Given the description of an element on the screen output the (x, y) to click on. 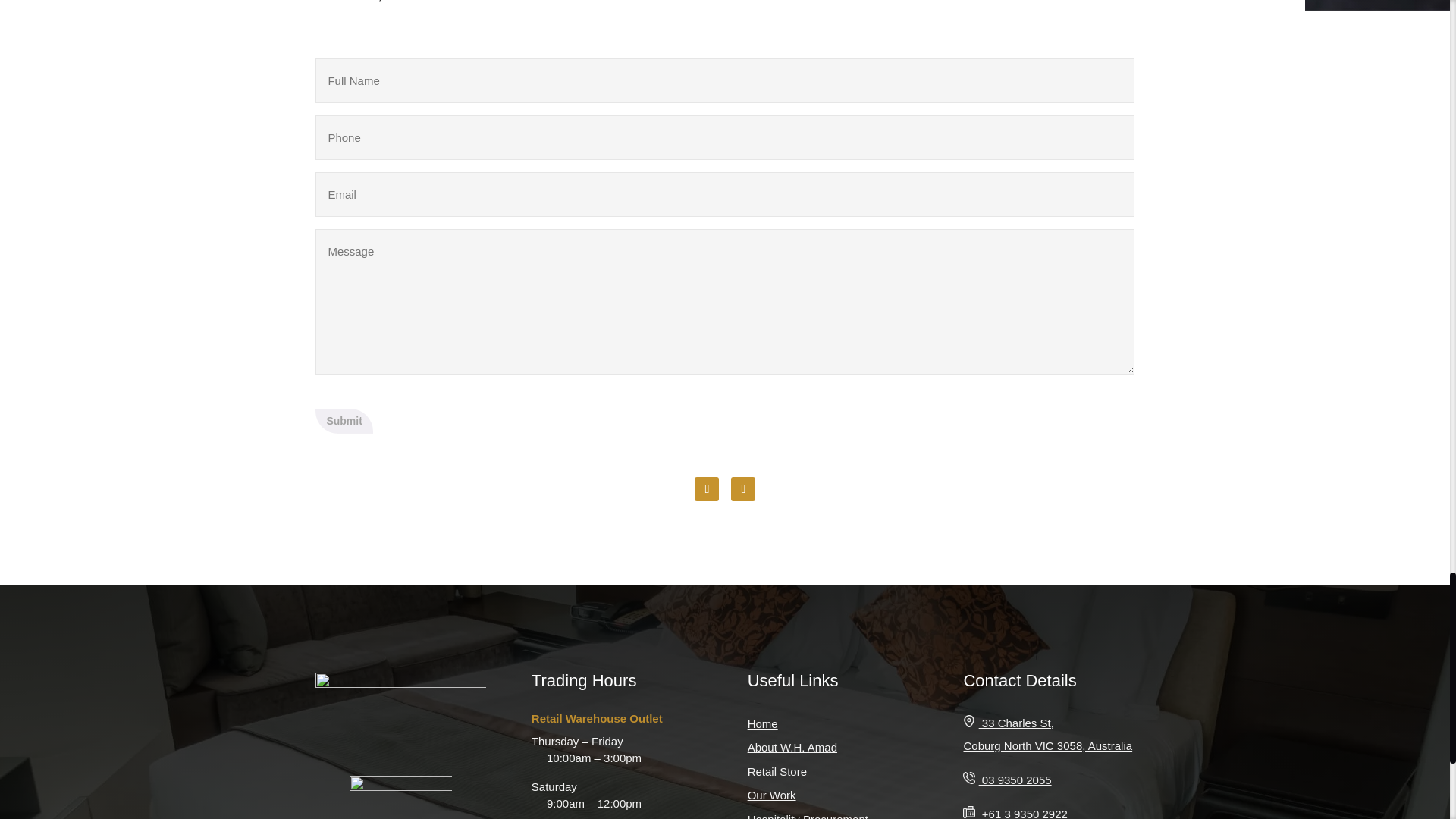
footer-logo-1 (400, 797)
Submit (343, 420)
Follow on Facebook (706, 488)
Follow on LinkedIn (742, 488)
